Given the description of an element on the screen output the (x, y) to click on. 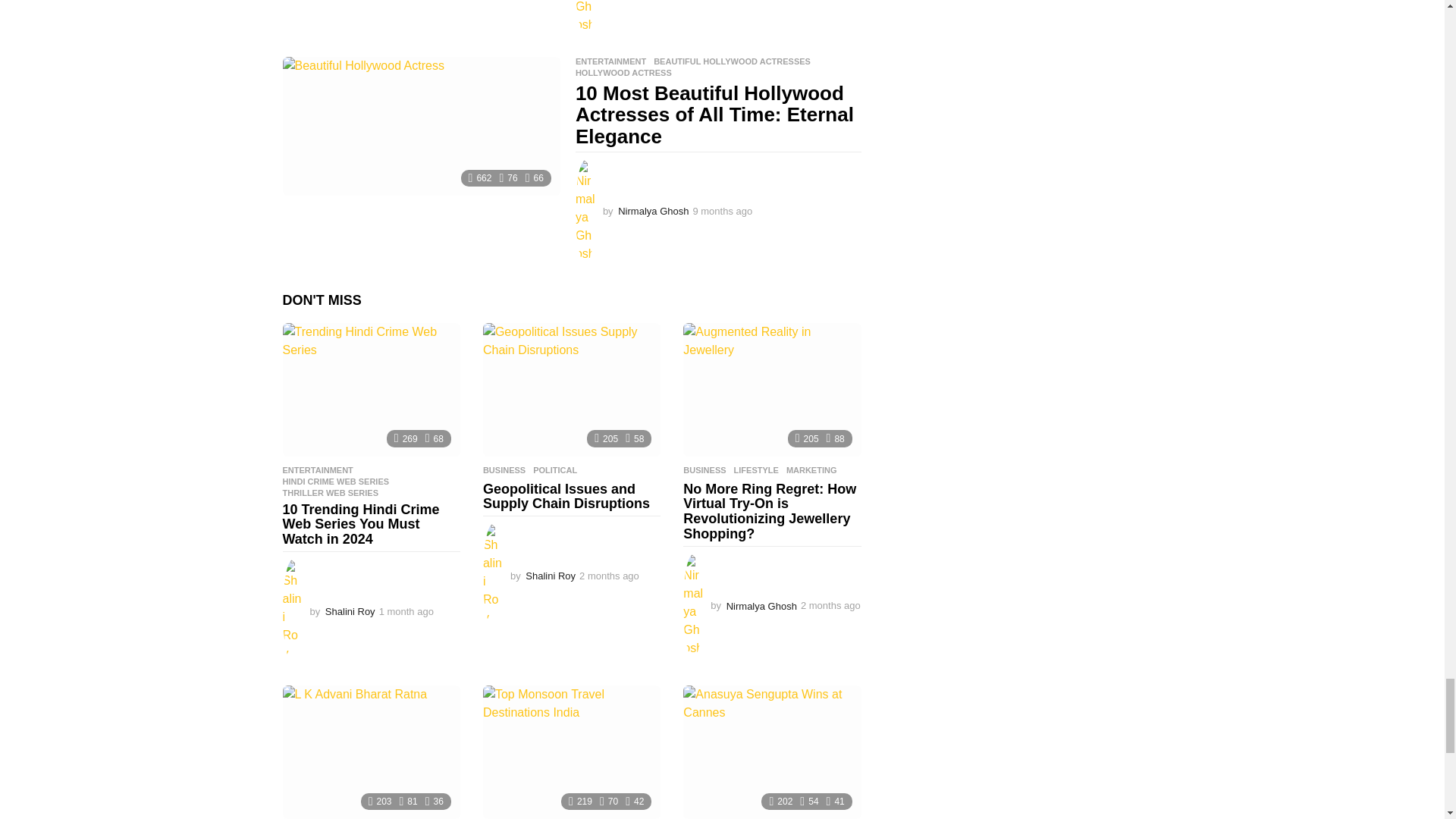
10 Trending Hindi Crime Web Series You Must Watch in 2024 (371, 389)
Geopolitical Issues and Supply Chain Disruptions (572, 389)
